Given the description of an element on the screen output the (x, y) to click on. 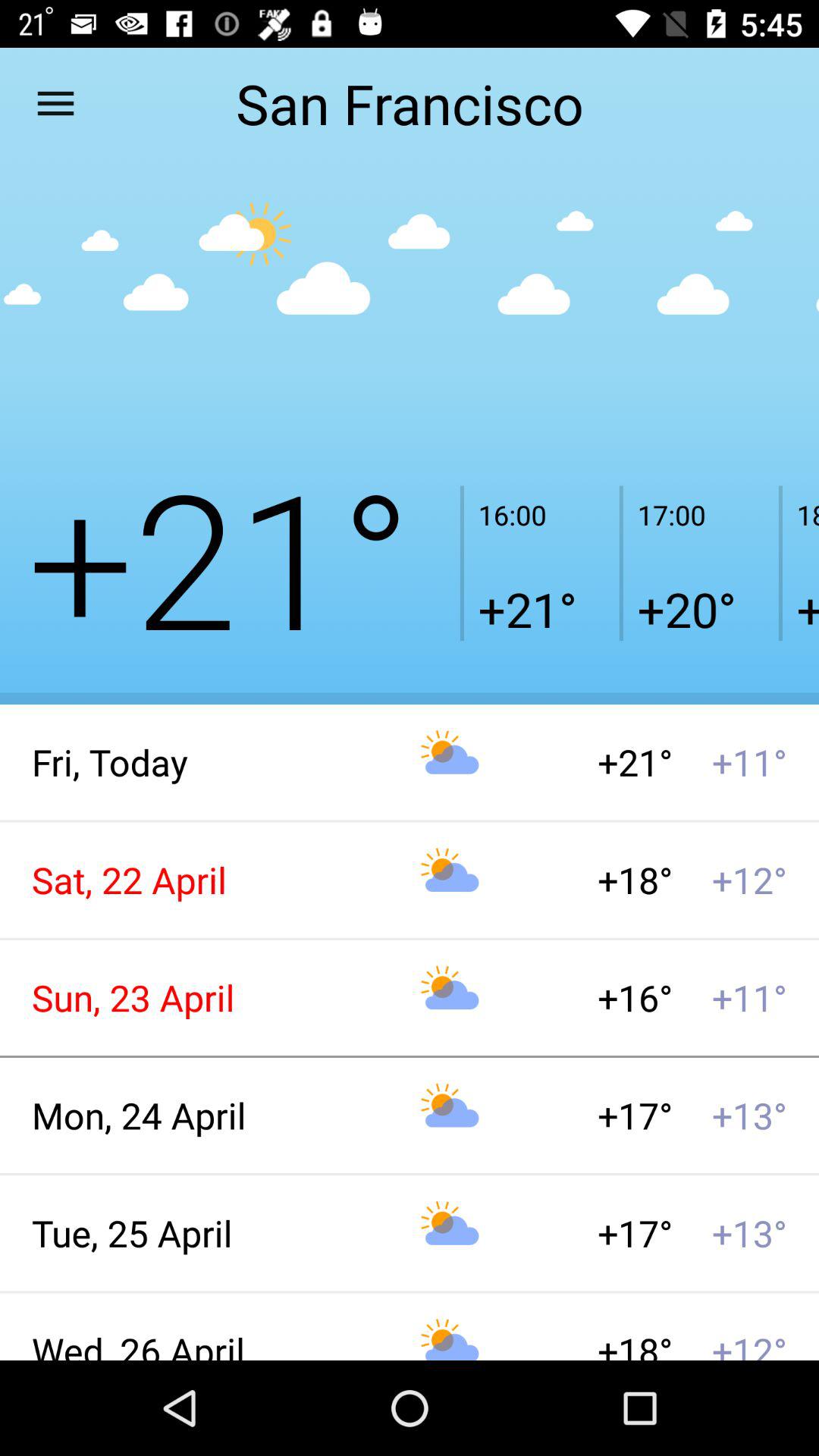
jump until san francisco icon (409, 103)
